Given the description of an element on the screen output the (x, y) to click on. 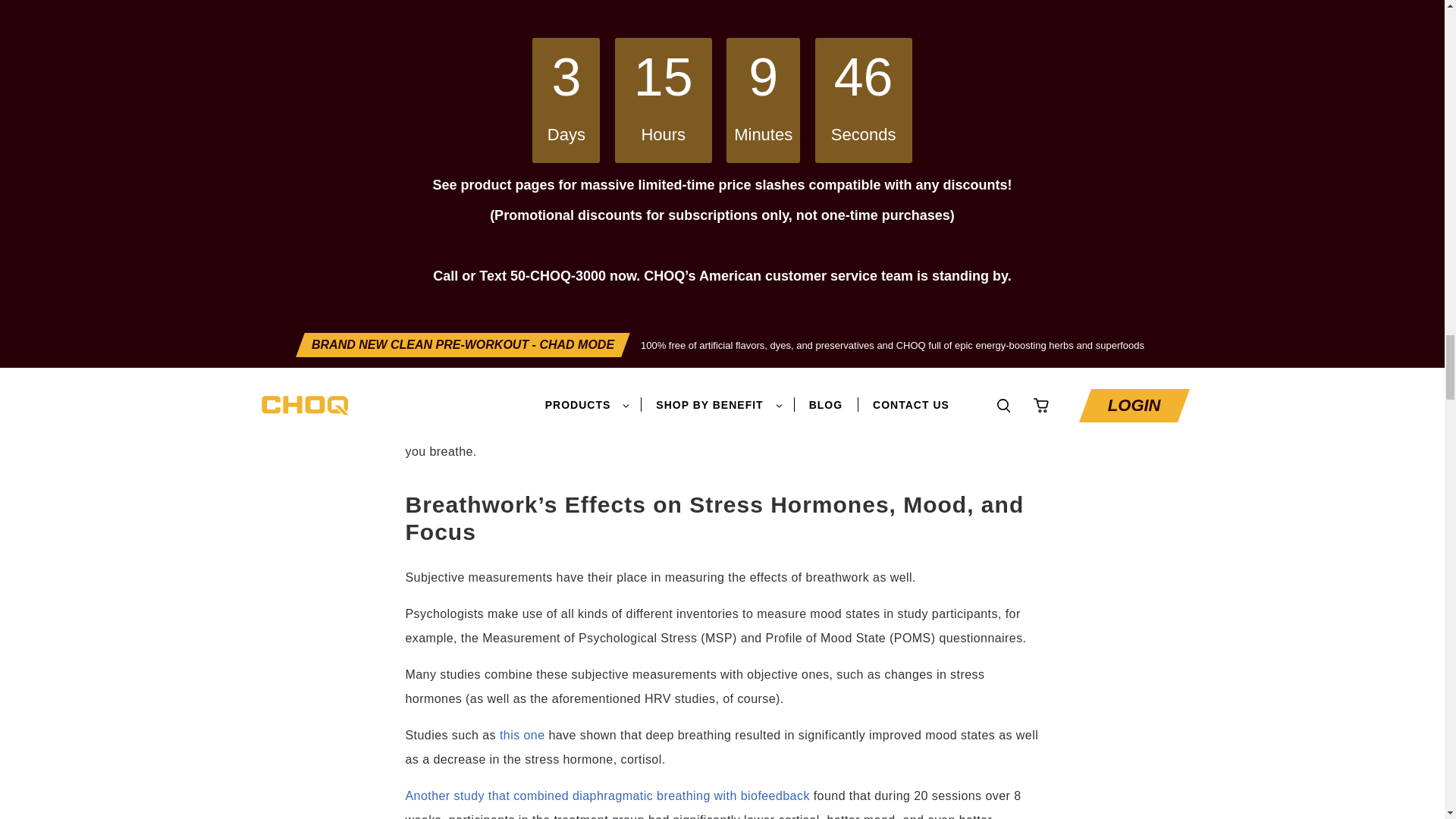
HeartMath Quick Coherence (491, 22)
